Given the description of an element on the screen output the (x, y) to click on. 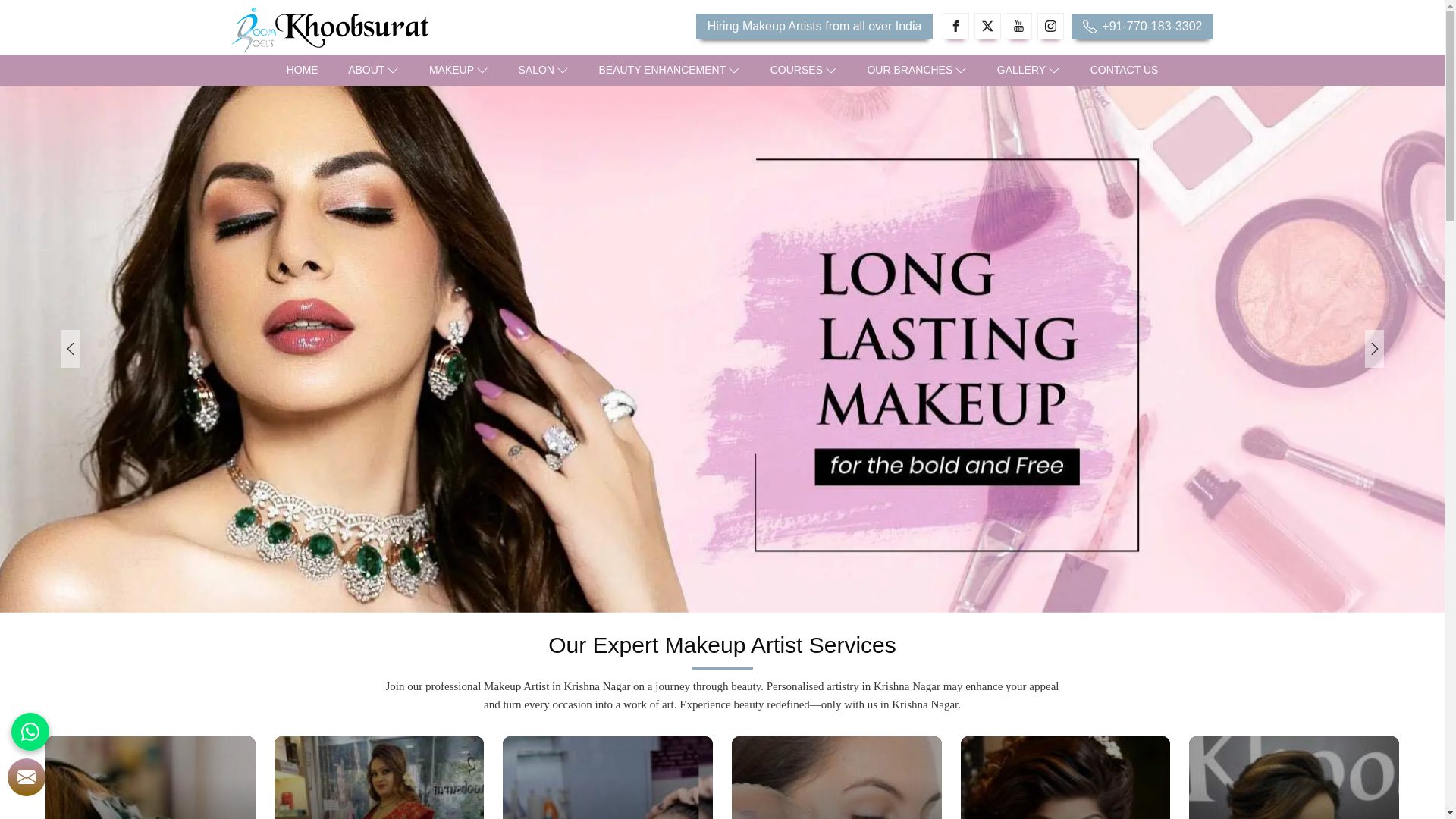
SALON (543, 69)
Makeup (458, 69)
Hiring Makeup Artists from all over India (814, 25)
Twitter (987, 26)
ABOUT (373, 69)
MAKEUP (458, 69)
khoobsurat (329, 30)
Home (302, 69)
Hiring Makeup Artists from all over India (814, 25)
Youtube (1019, 26)
khoobsurat (388, 30)
Instagram (1050, 26)
Facebook (955, 26)
HOME (302, 69)
About (373, 69)
